Given the description of an element on the screen output the (x, y) to click on. 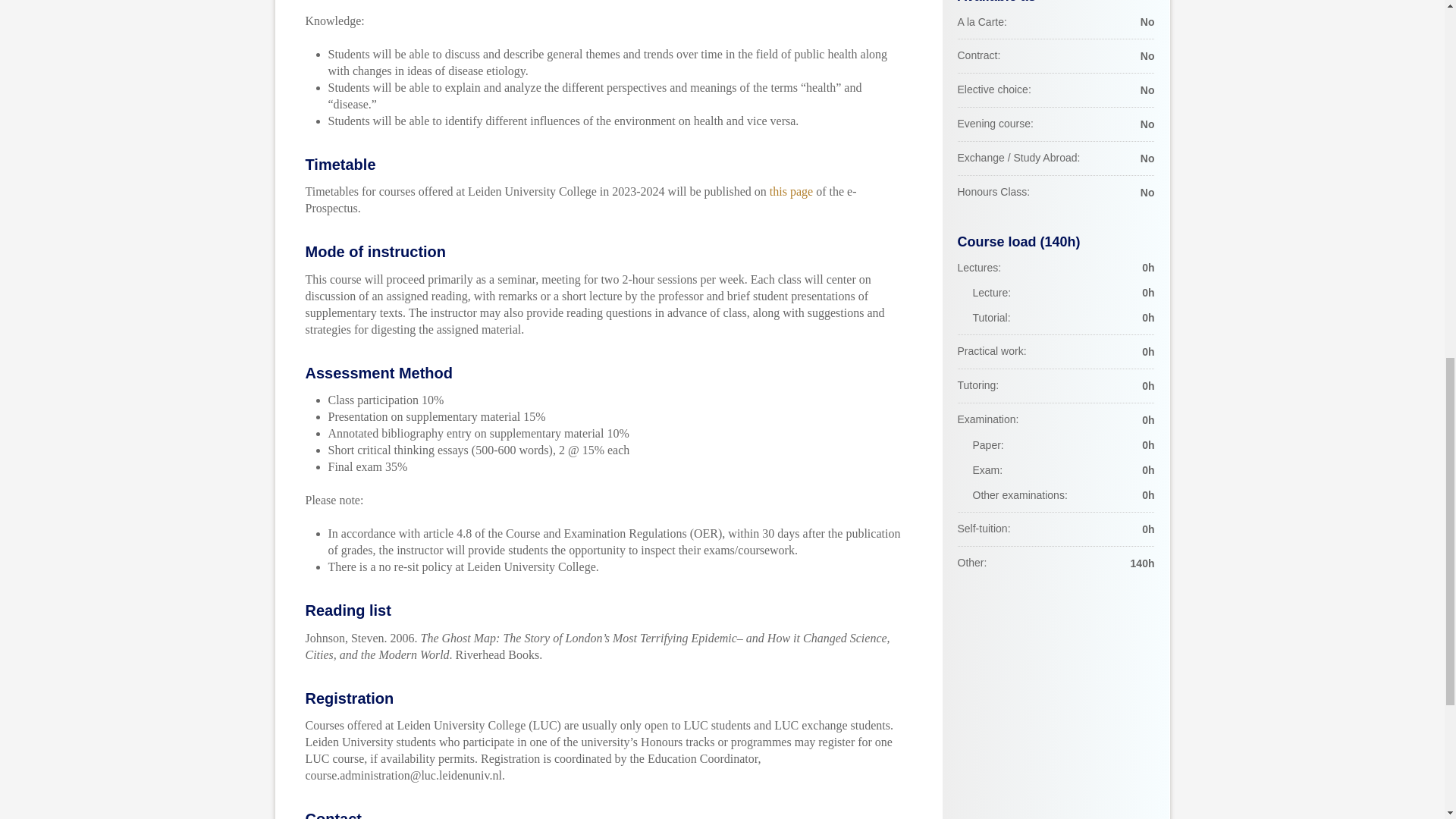
this page (791, 191)
